Given the description of an element on the screen output the (x, y) to click on. 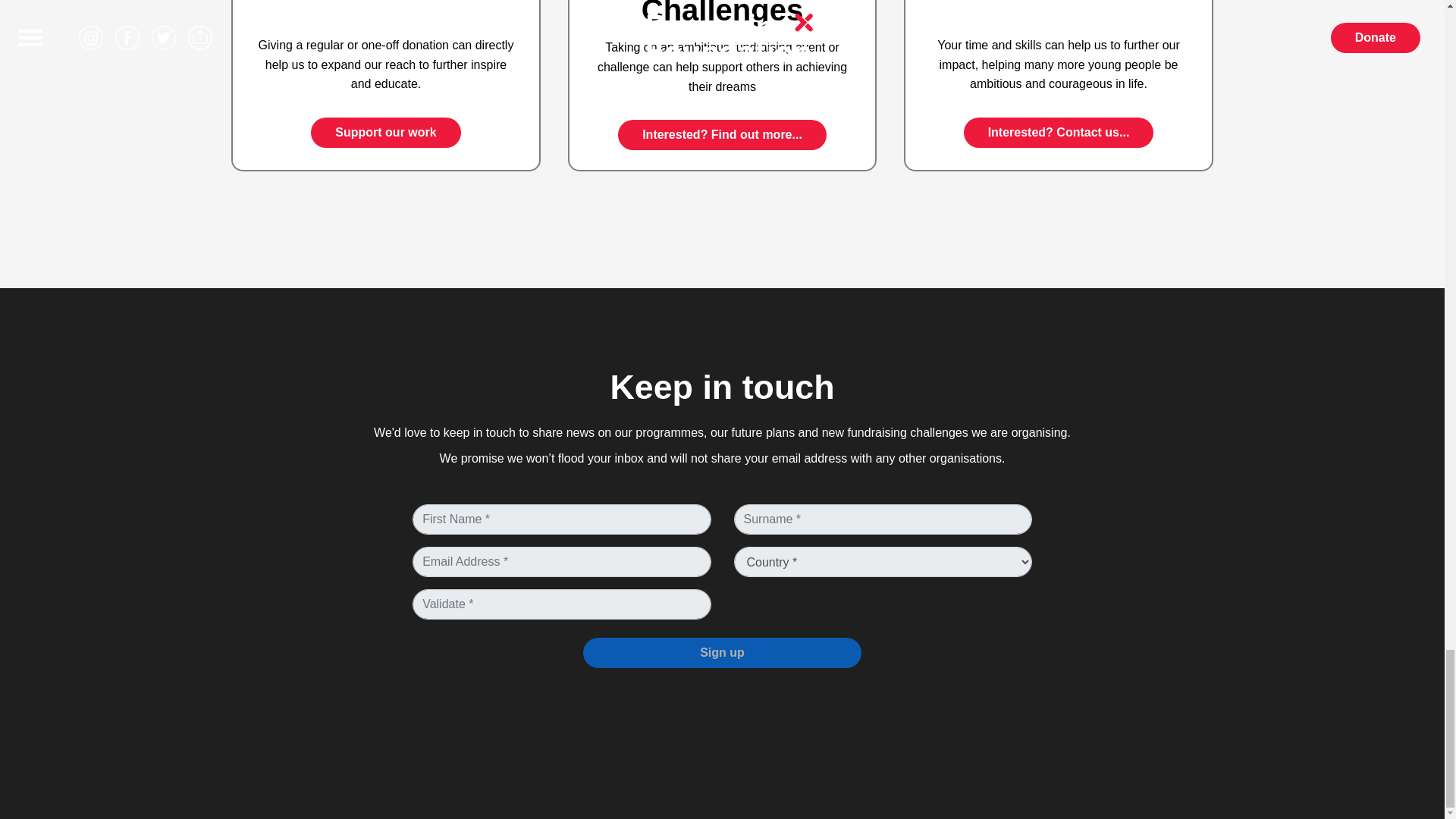
Sign up (722, 653)
Support our work (385, 132)
Interested? Contact us... (1058, 132)
Interested? Find out more... (722, 134)
